Given the description of an element on the screen output the (x, y) to click on. 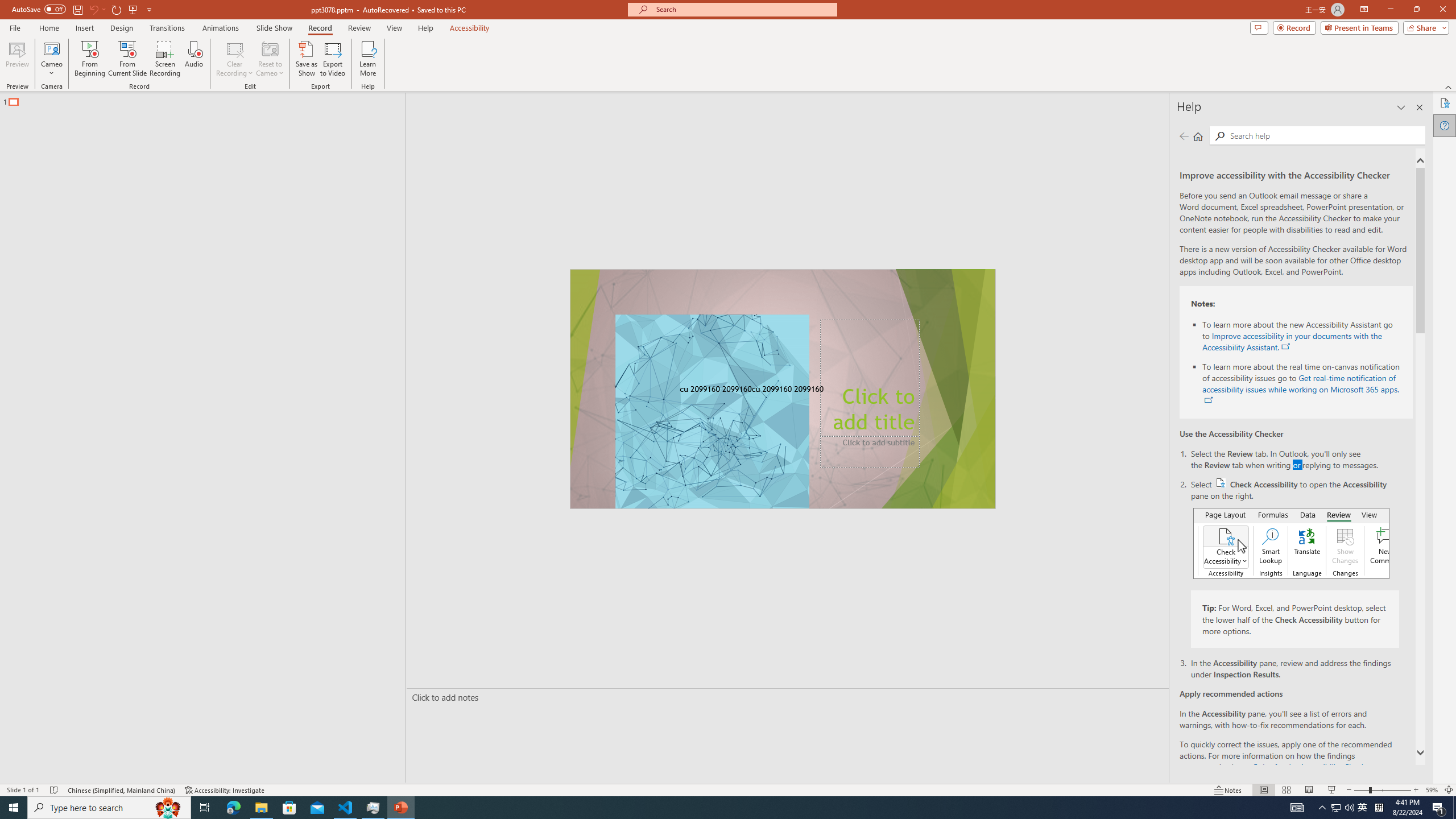
Reset to Cameo (269, 58)
Screen Recording (165, 58)
